Given the description of an element on the screen output the (x, y) to click on. 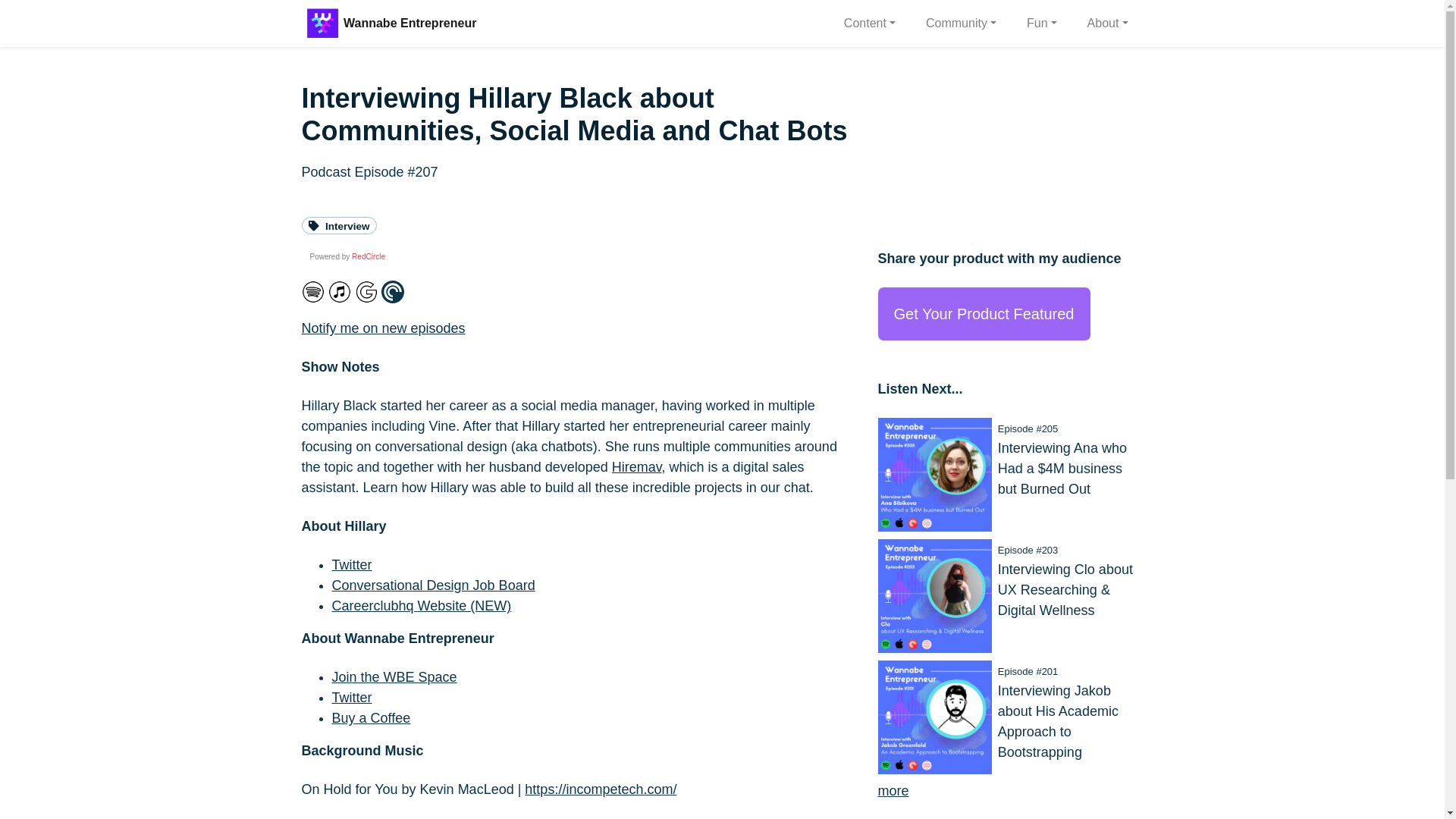
Community (961, 23)
Fun (1041, 23)
Notify me on new episodes (383, 328)
Wannabe Entrepreneur (409, 23)
Twitter (351, 564)
About (1106, 23)
Content (869, 23)
Twitter (351, 697)
Hiremav (636, 467)
Buy a Coffee (370, 717)
